Given the description of an element on the screen output the (x, y) to click on. 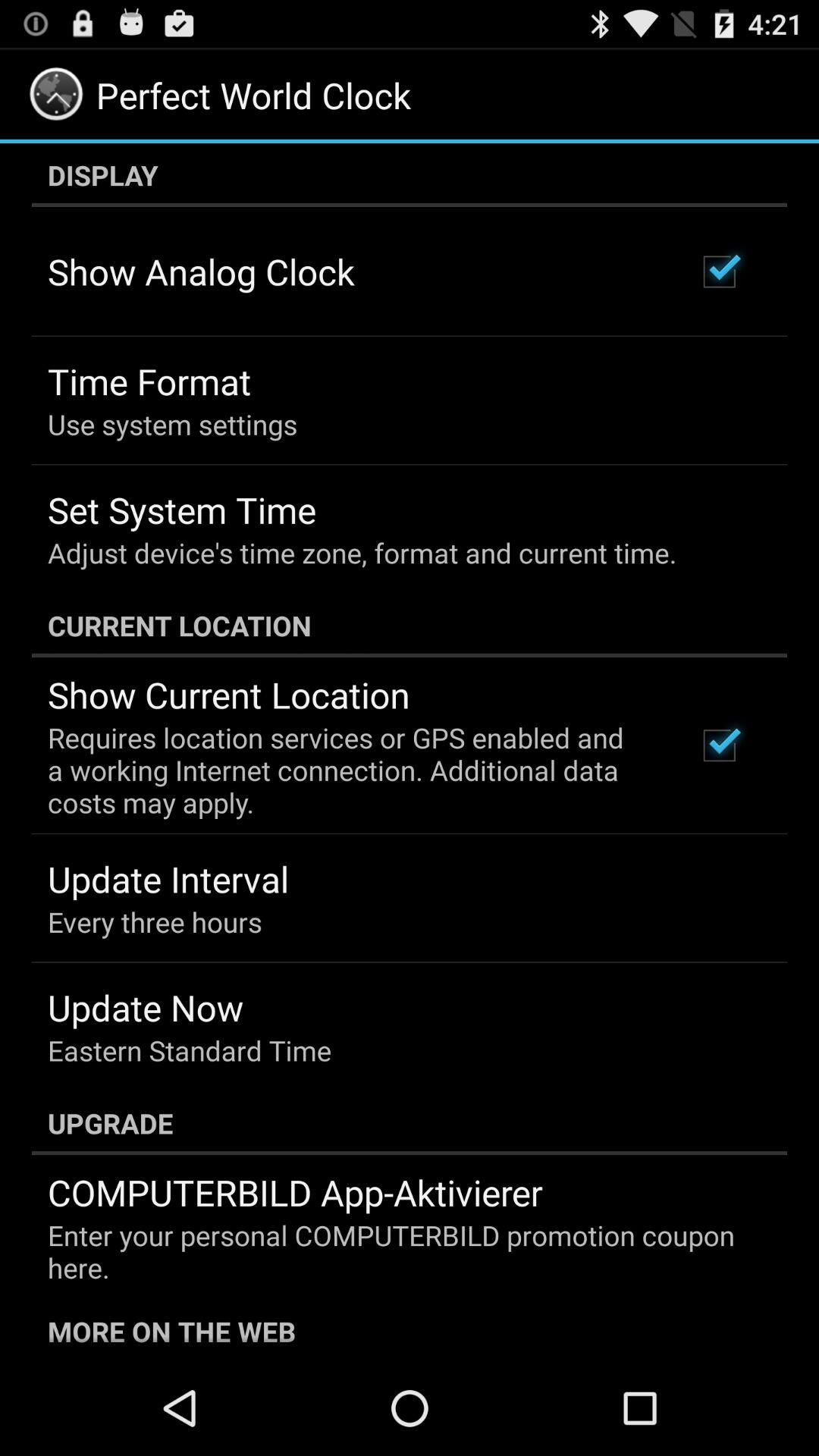
select the icon above eastern standard time item (145, 1007)
